Given the description of an element on the screen output the (x, y) to click on. 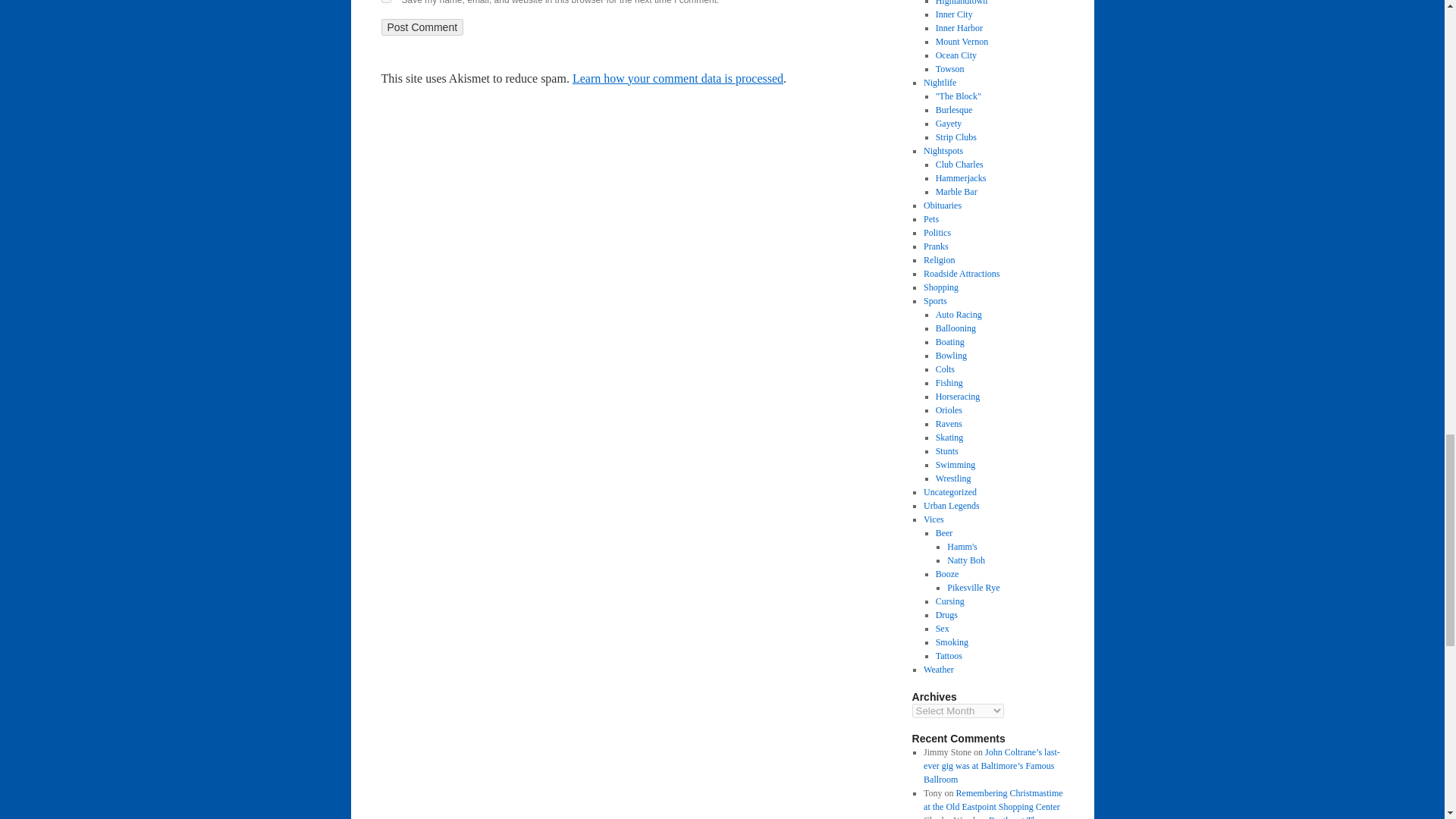
Learn how your comment data is processed (677, 78)
Post Comment (421, 27)
yes (385, 1)
Post Comment (421, 27)
